Given the description of an element on the screen output the (x, y) to click on. 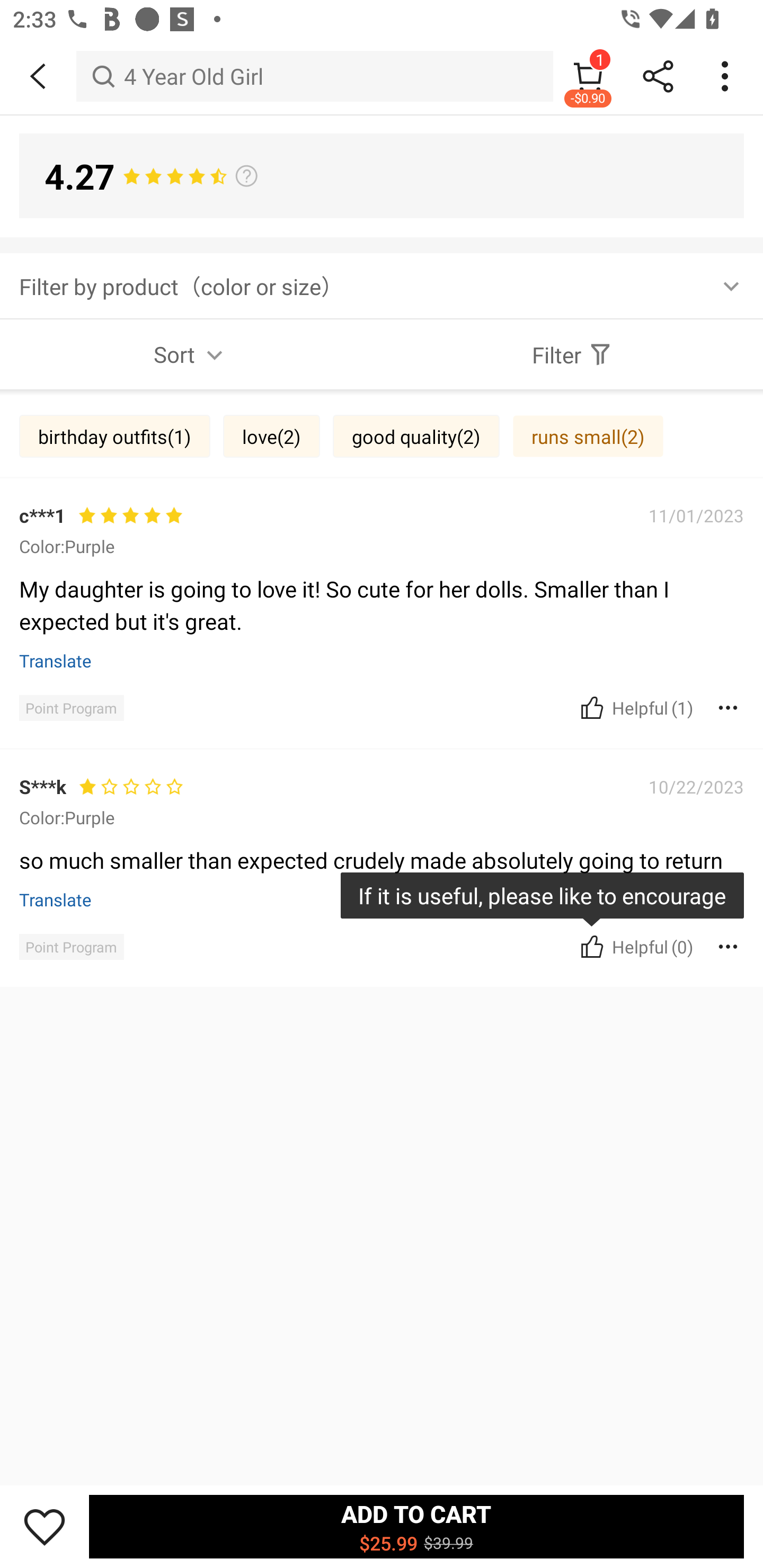
PHOTOS Marketplace 2 / 6 (381, 419)
BACK (38, 75)
1 -$0.90 (588, 75)
4 Year Old Girl (314, 75)
Filter by product（color or size） (381, 285)
Sort (190, 353)
Filter (572, 353)
birthday outfits(1) (114, 436)
love(2) (270, 436)
good quality(2) (415, 436)
runs small(2) (587, 436)
Translate (55, 660)
Cancel Helpful Was this article helpful? (1) (634, 707)
Point Program (71, 707)
$25.99 $39.99 -35% (381, 830)
Translate (55, 899)
Cancel Helpful Was this article helpful? (0) (634, 946)
Point Program (71, 946)
ADD TO CART $25.99 $39.99 (416, 1526)
Save (44, 1526)
